Given the description of an element on the screen output the (x, y) to click on. 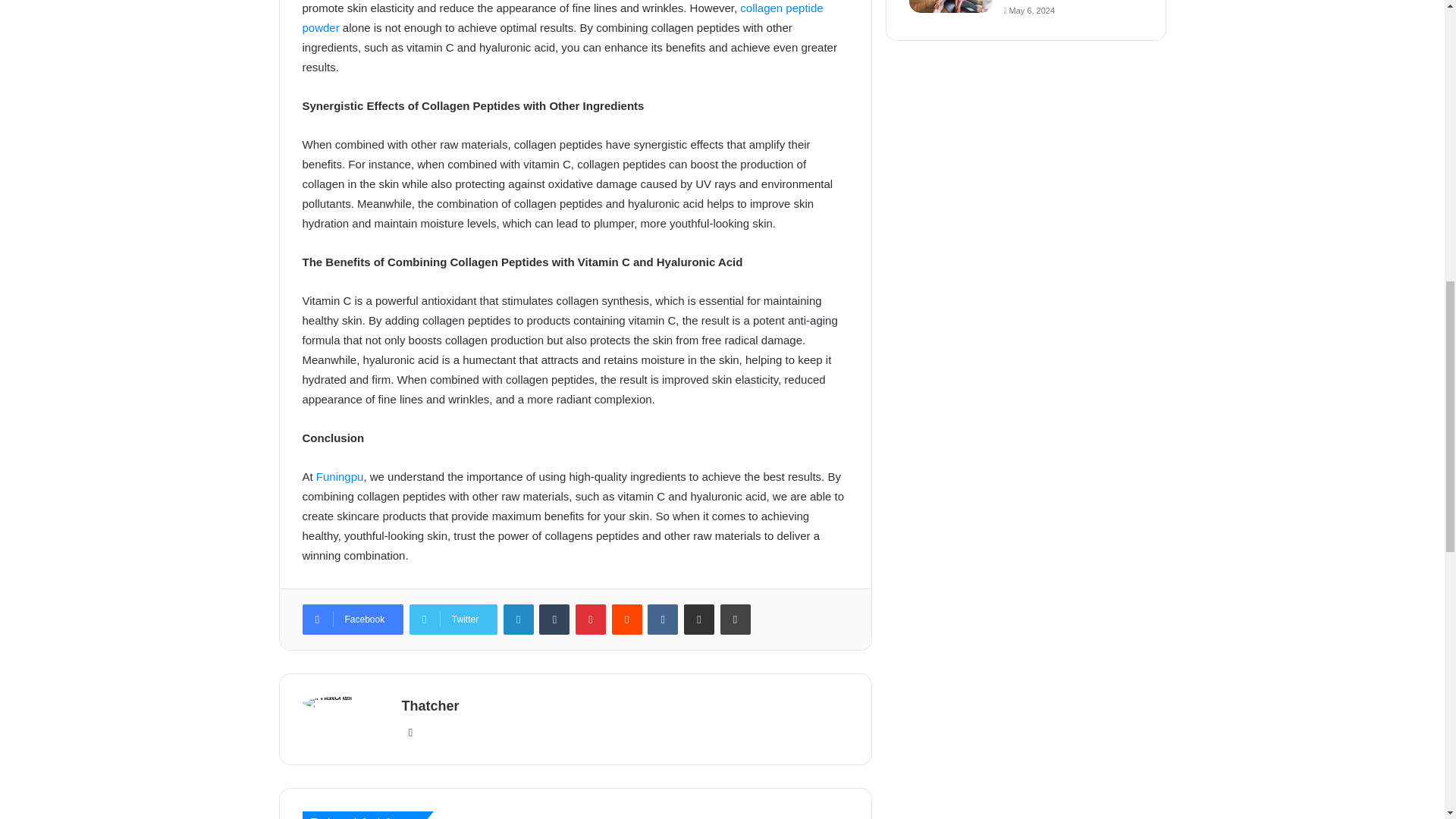
Pinterest (590, 619)
VKontakte (662, 619)
Funingpu (339, 476)
LinkedIn (518, 619)
Pinterest (590, 619)
Print (735, 619)
Twitter (453, 619)
Reddit (626, 619)
Reddit (626, 619)
Share via Email (699, 619)
Thatcher (430, 705)
Twitter (453, 619)
Website (410, 732)
Facebook (352, 619)
collagen peptide powder (561, 17)
